Given the description of an element on the screen output the (x, y) to click on. 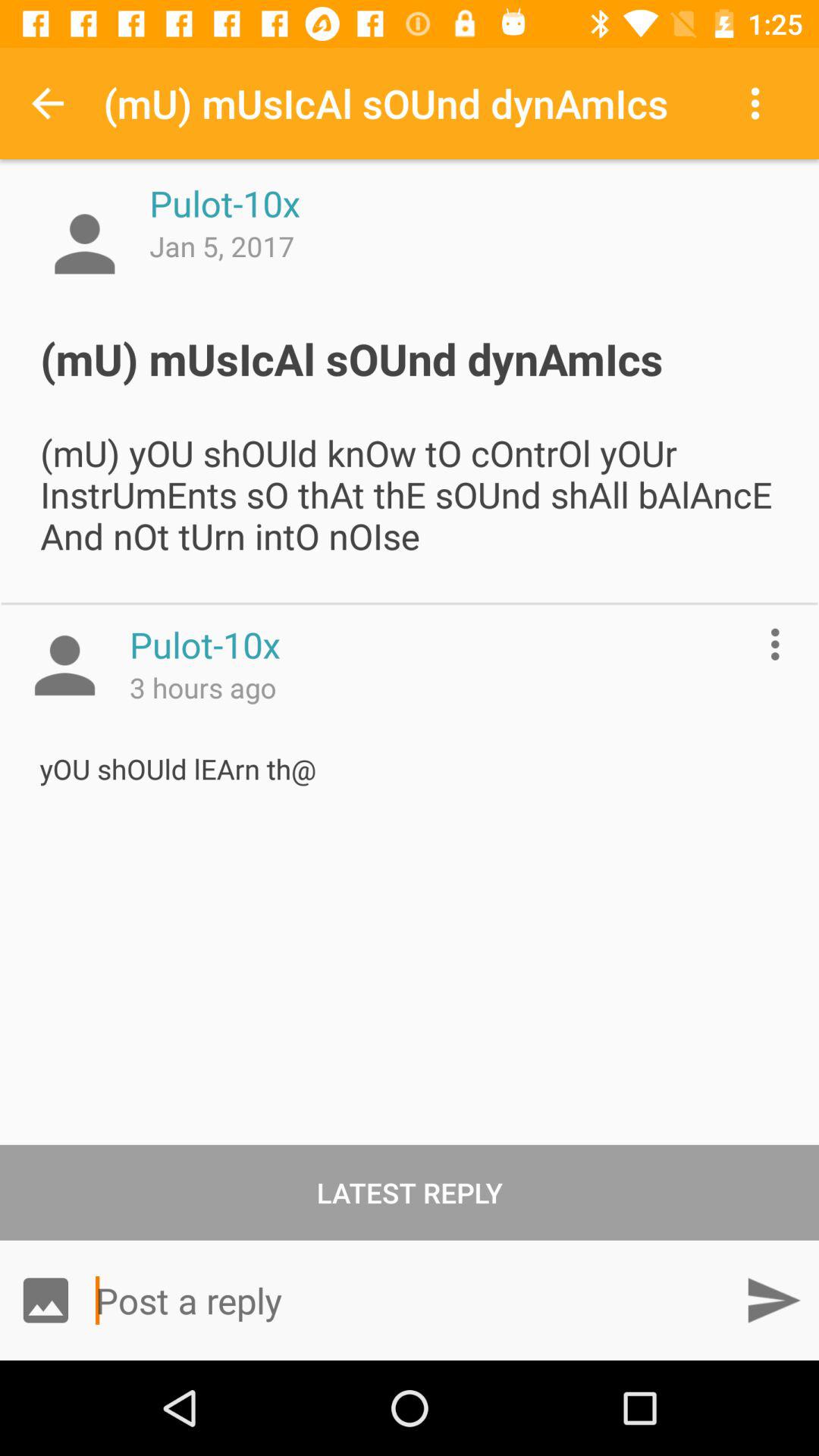
turn off icon below latest reply item (409, 1300)
